Given the description of an element on the screen output the (x, y) to click on. 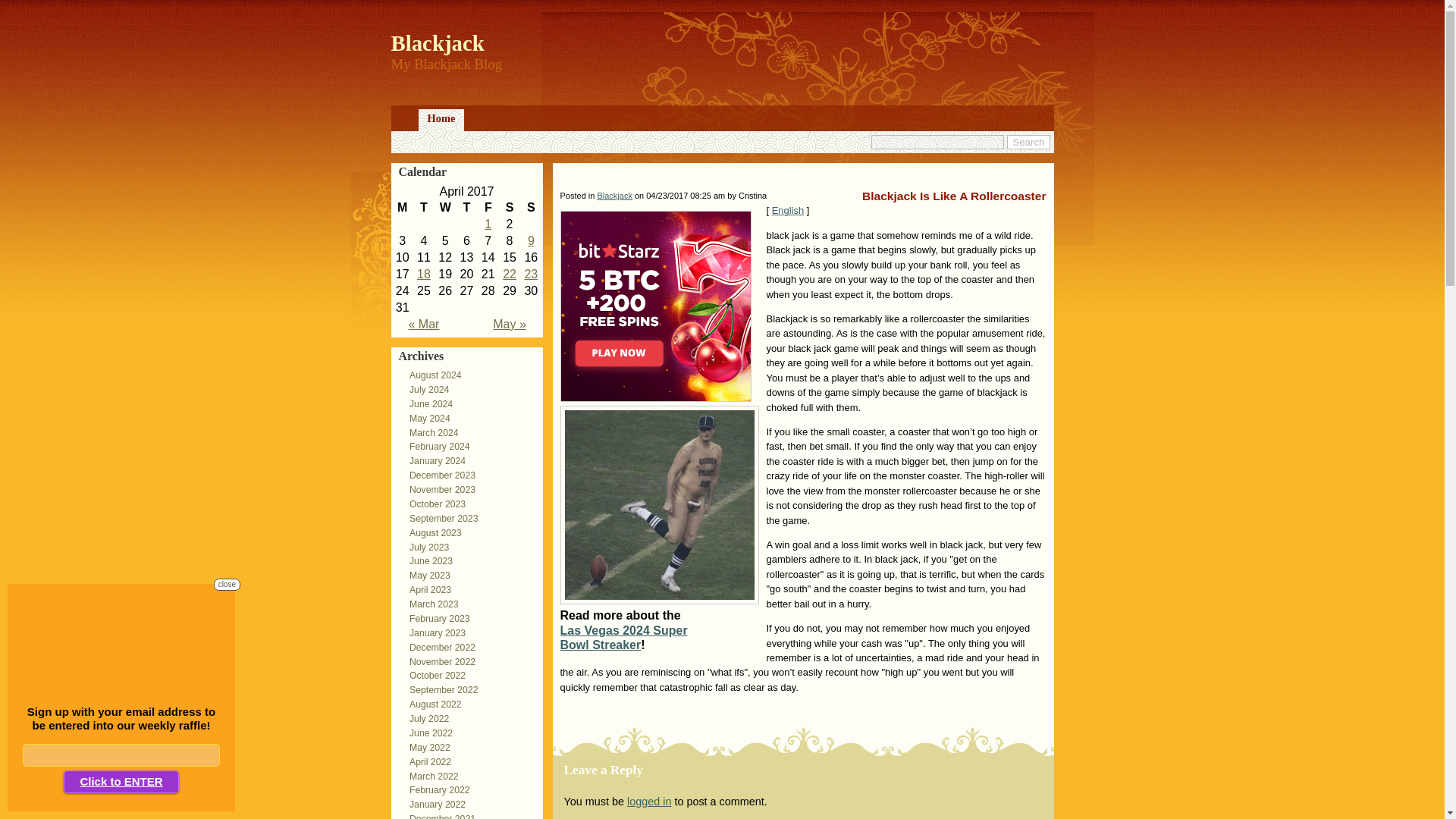
Home (441, 119)
Saturday (509, 207)
18 (423, 273)
View posts for May 2017 (509, 323)
May 2024 (424, 418)
Wednesday (444, 207)
Thursday (466, 207)
August 2023 (430, 532)
Three Online Black jack Hints (423, 273)
